Given the description of an element on the screen output the (x, y) to click on. 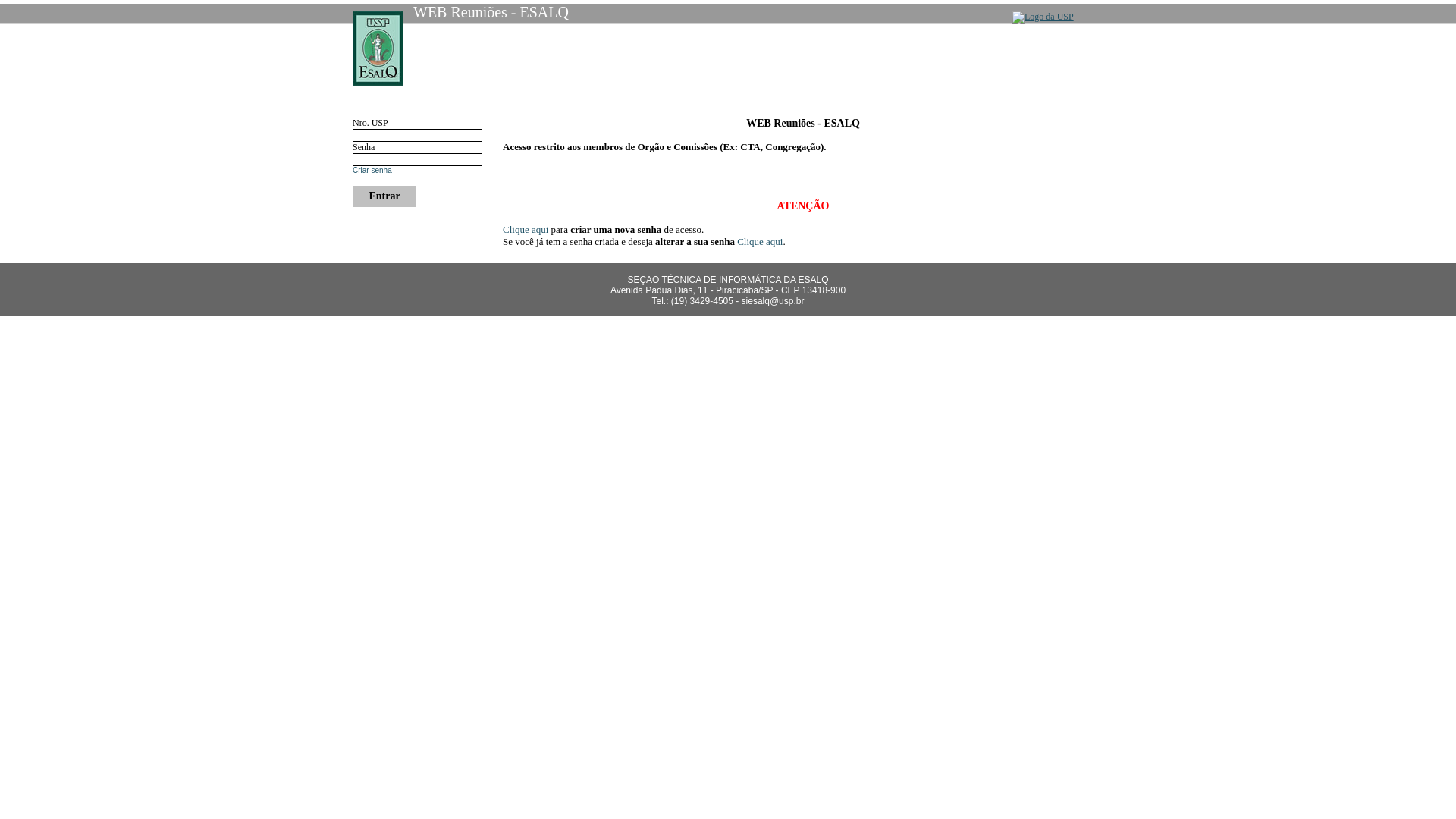
Clique aqui Element type: text (759, 241)
Entrar Element type: text (384, 196)
Criar senha Element type: text (372, 170)
Clique aqui Element type: text (525, 229)
